Given the description of an element on the screen output the (x, y) to click on. 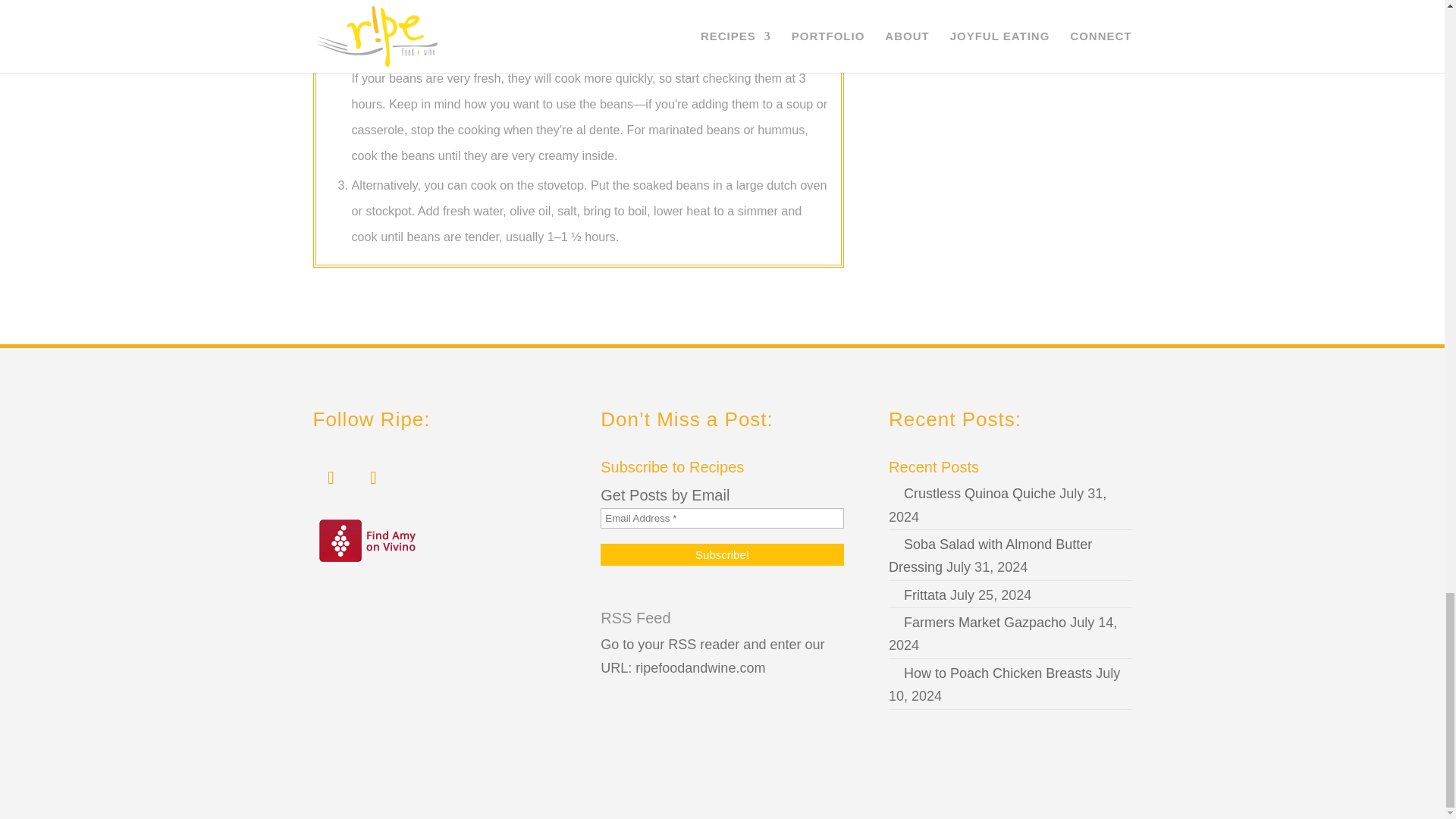
Subscribe! (721, 554)
Soba Salad with Almond Butter Dressing (990, 556)
Crustless Quinoa Quiche (971, 493)
Follow on Instagram (331, 477)
How to Poach Chicken Breasts (990, 672)
Follow on Pinterest (373, 477)
Frittata (917, 595)
Subscribe! (721, 554)
Email Address (721, 517)
Farmers Market Gazpacho (976, 622)
